Given the description of an element on the screen output the (x, y) to click on. 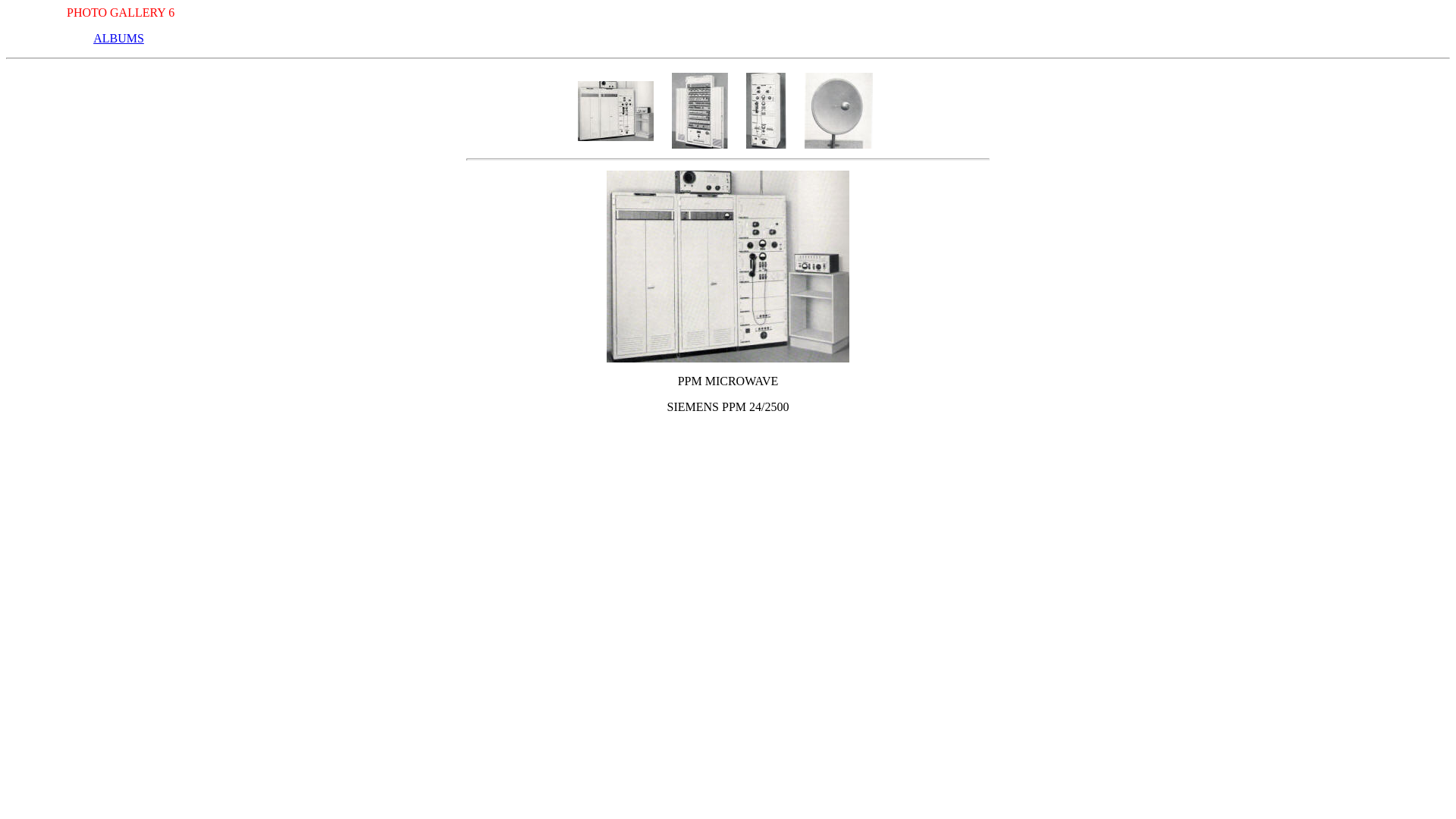
PARABOLIC ANTENNA Element type: hover (837, 110)
MICROWAVE RADIO BAY Element type: hover (766, 110)
PPM MODULATION BAY Element type: hover (699, 110)
PPM MICROWAVE SIEMENS PPM 24/2500 Element type: hover (727, 266)
ALBUMS Element type: text (118, 37)
PPM MICROWAVE SIEMENS PPM 24/2500 Element type: hover (615, 110)
